Given the description of an element on the screen output the (x, y) to click on. 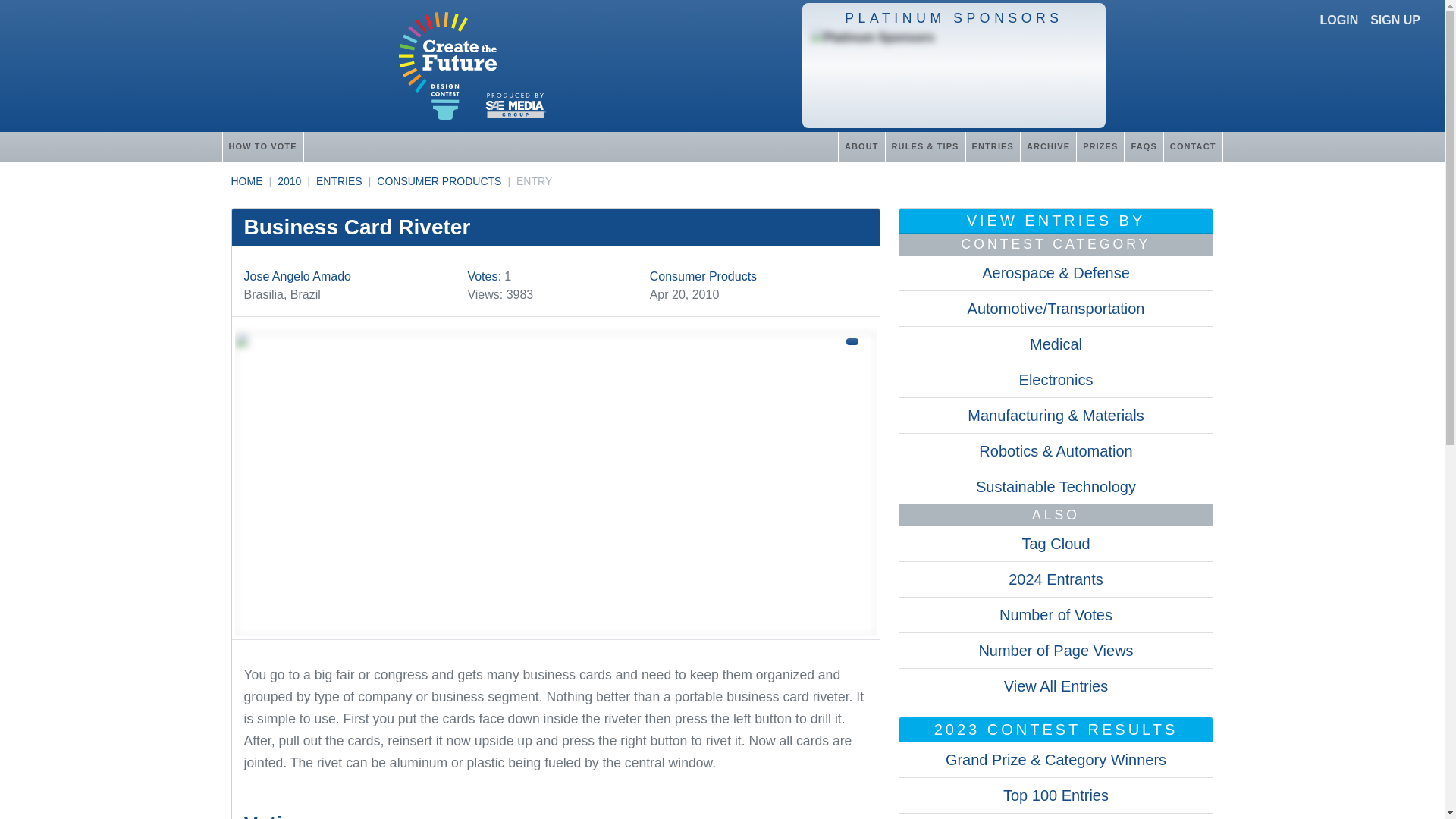
FAQS (1142, 146)
Jose Angelo Amado (297, 276)
ARCHIVE (1047, 146)
CONSUMER PRODUCTS (438, 181)
ENTRIES (992, 146)
Votes (482, 276)
HOME (246, 181)
Consumer Products (703, 276)
CONTACT (1193, 146)
ENTRIES (338, 181)
